Given the description of an element on the screen output the (x, y) to click on. 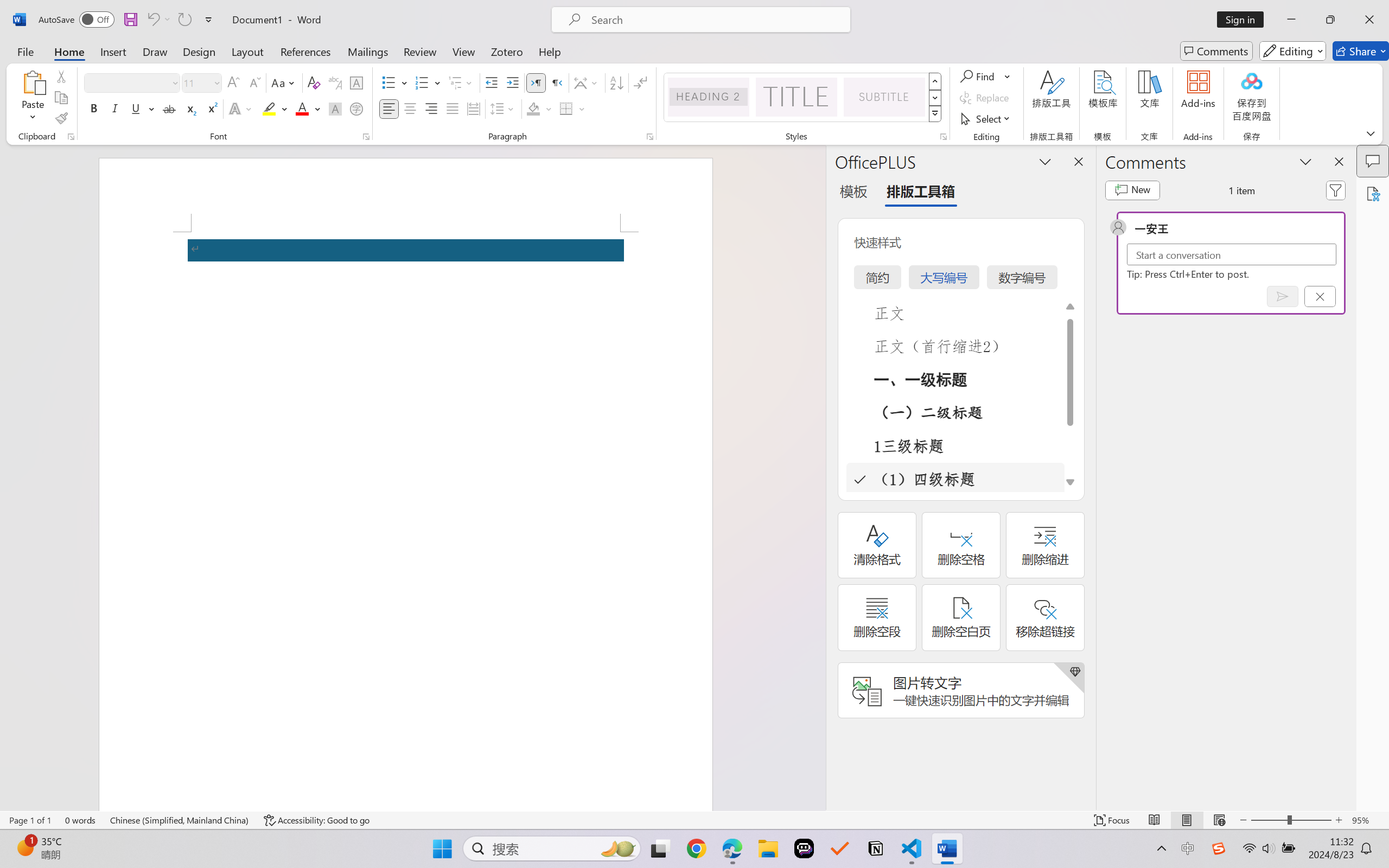
Accessibility Assistant (1373, 193)
Editing (1292, 50)
Language Chinese (Simplified, Mainland China) (179, 819)
